Given the description of an element on the screen output the (x, y) to click on. 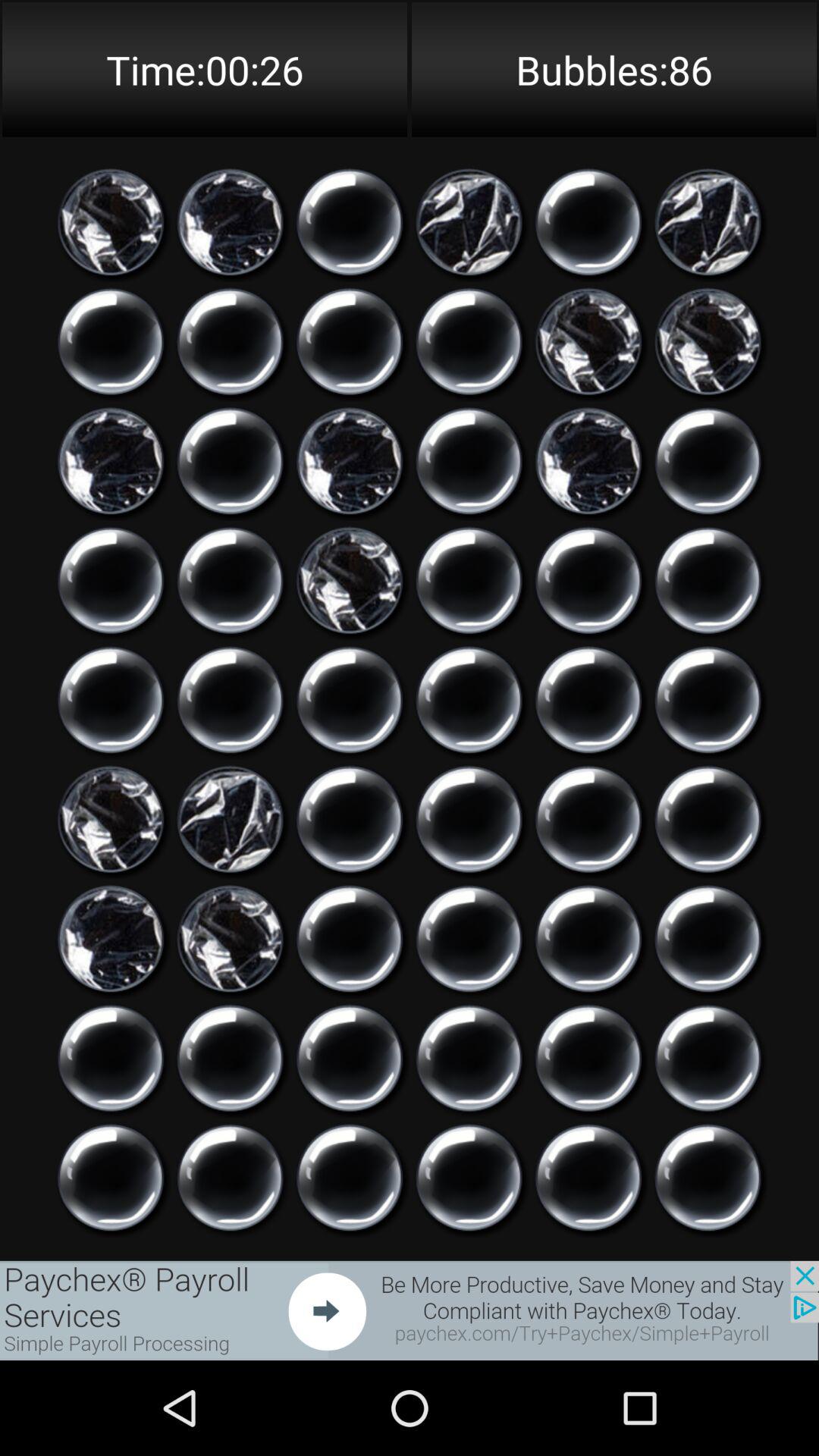
to select particular bubble for game (110, 222)
